Given the description of an element on the screen output the (x, y) to click on. 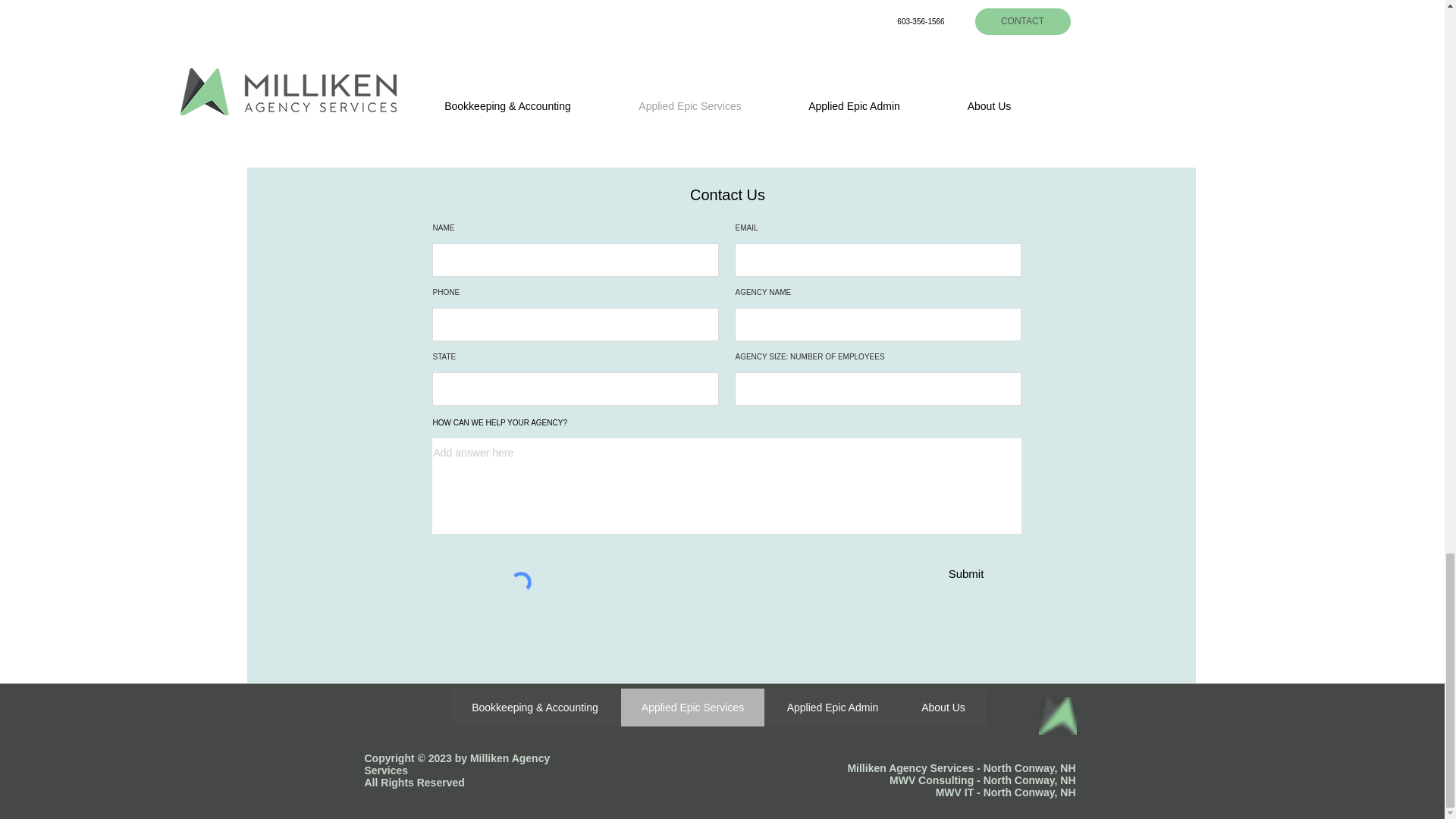
About Us (943, 707)
Submit (966, 573)
learn more (474, 68)
learn more (721, 71)
Applied Epic Admin (832, 707)
Applied Epic Services (691, 707)
learn more (969, 71)
